Given the description of an element on the screen output the (x, y) to click on. 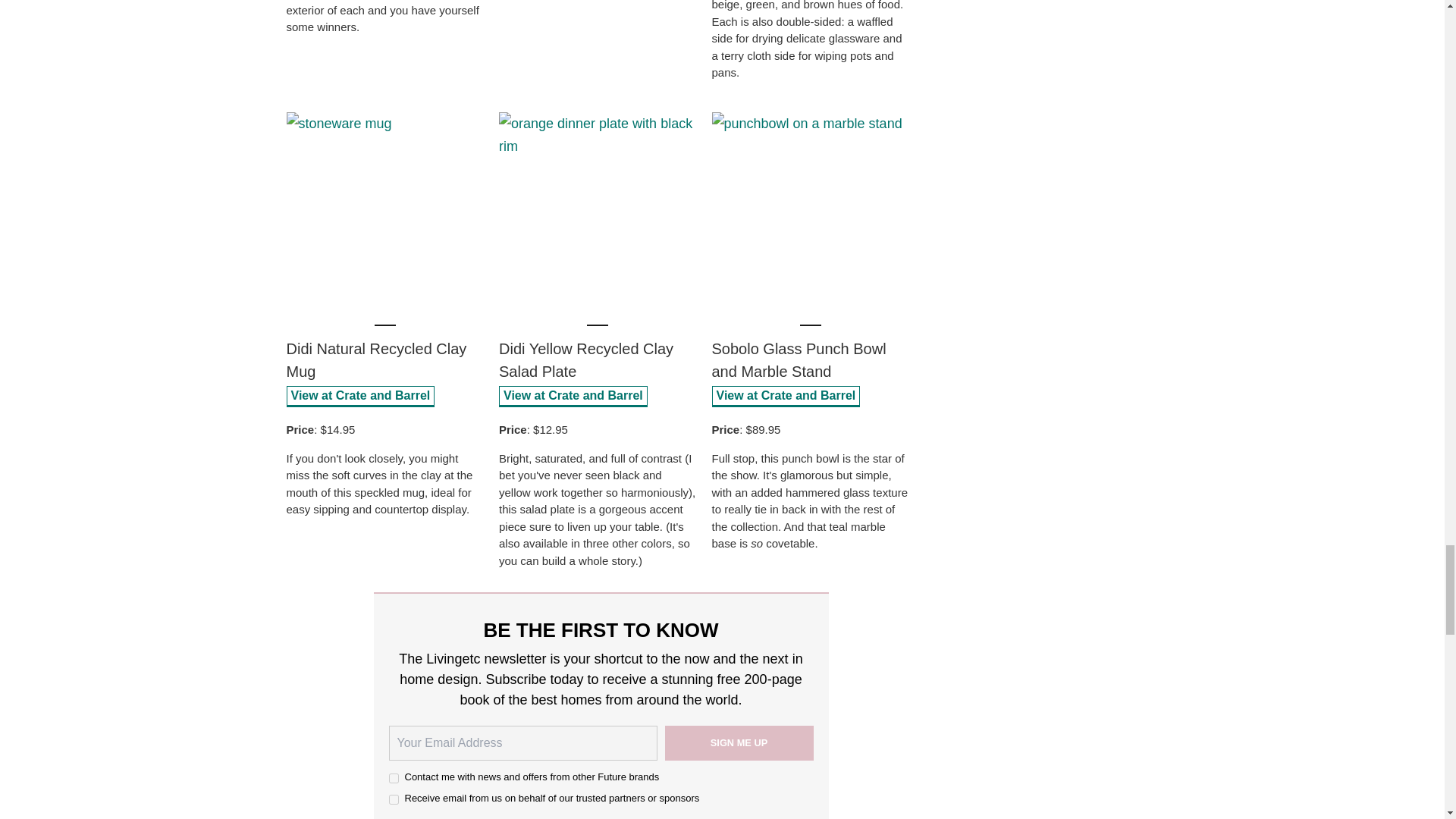
Sign me up (737, 742)
on (392, 777)
on (392, 799)
